Given the description of an element on the screen output the (x, y) to click on. 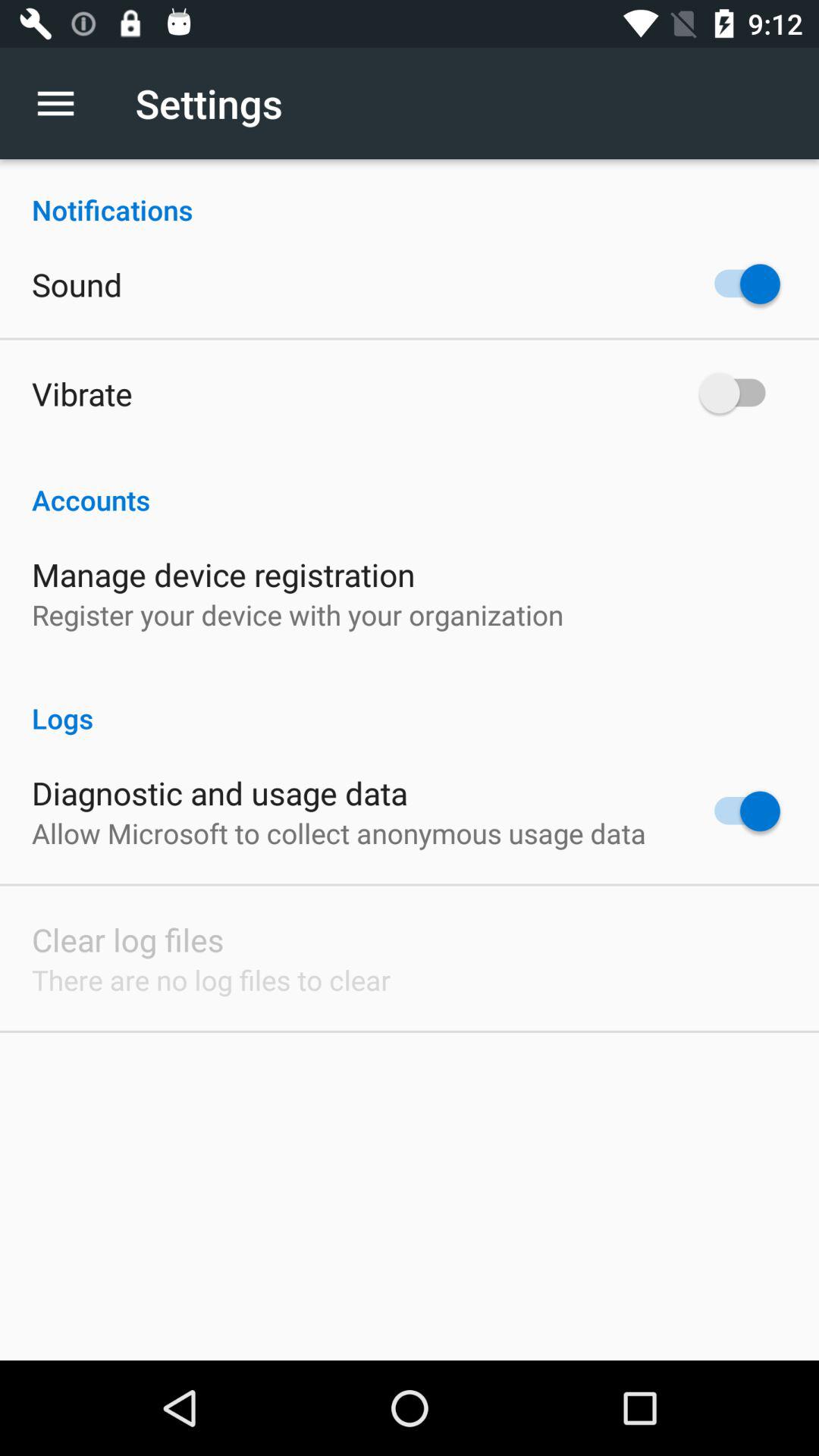
press the icon above the diagnostic and usage icon (409, 702)
